Given the description of an element on the screen output the (x, y) to click on. 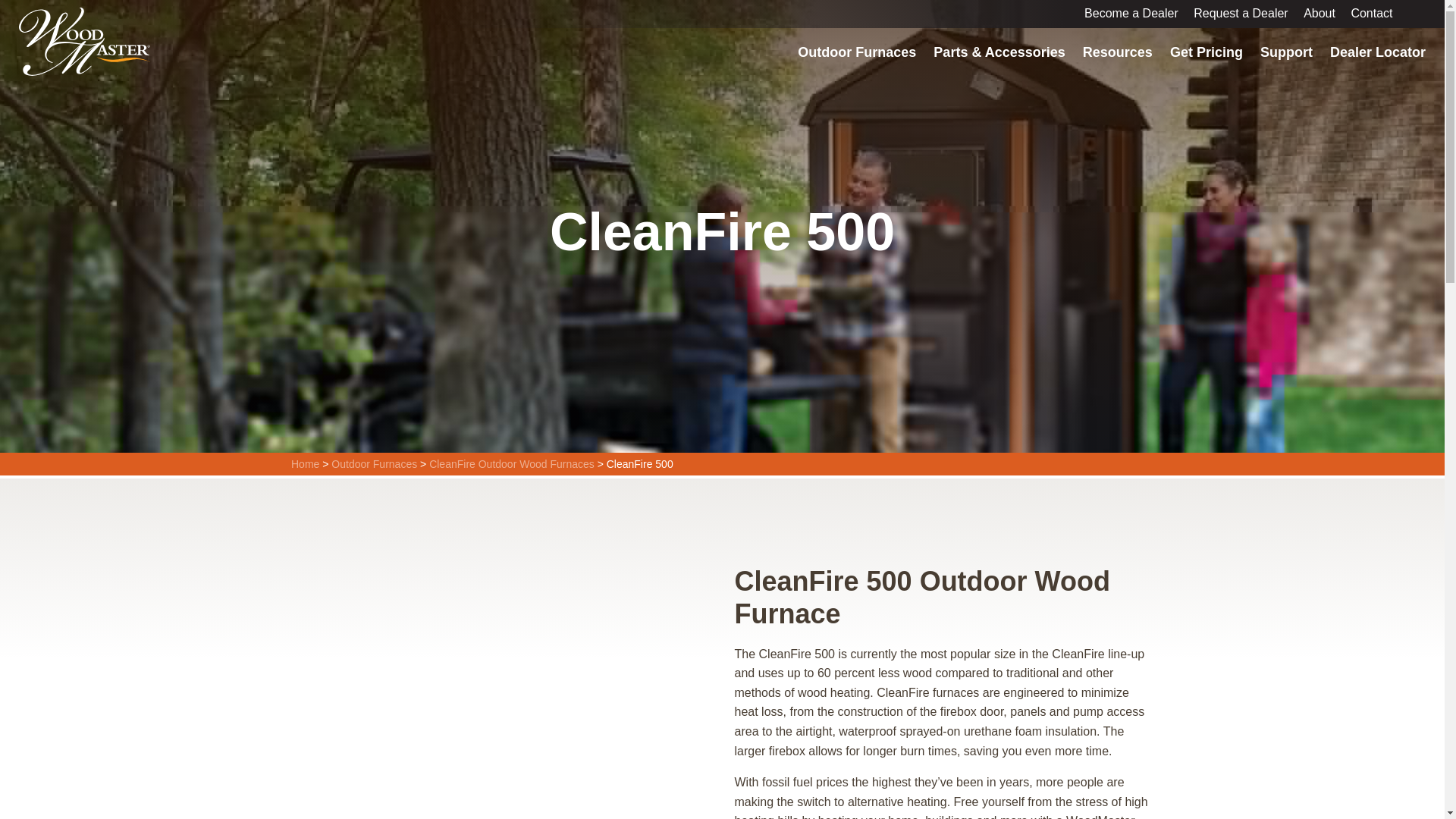
WoodMaster (84, 41)
Contact (1370, 13)
Request a Dealer (1241, 13)
Become a Dealer (1131, 13)
Support (1286, 52)
Resources (1116, 52)
Get Pricing (1206, 52)
Dealer Locator (1377, 52)
About (1318, 13)
WoodMaster (84, 41)
Outdoor Furnaces (856, 52)
